Given the description of an element on the screen output the (x, y) to click on. 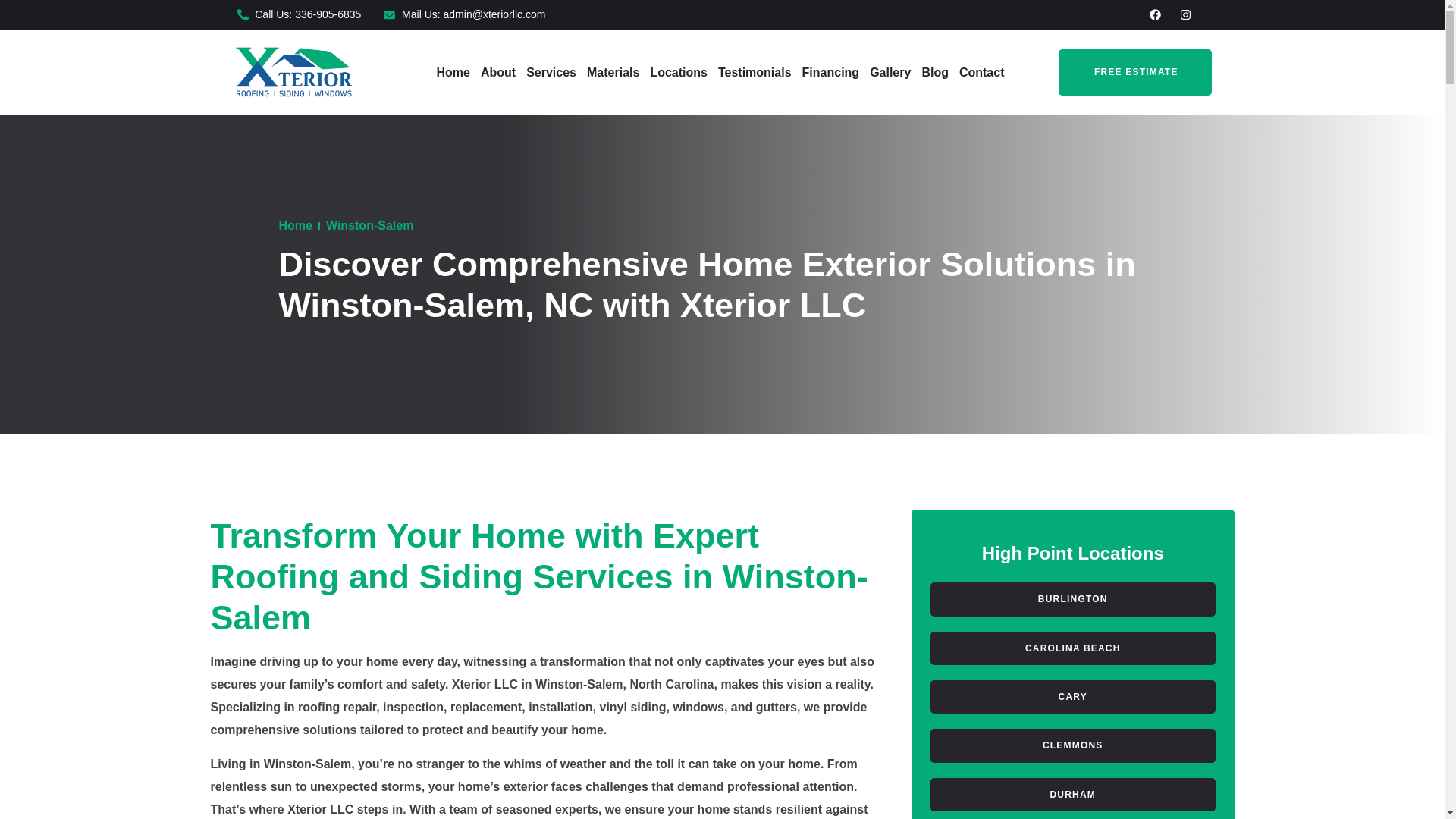
About (498, 72)
Materials (612, 72)
Call Us: 336-905-6835 (298, 14)
Services (550, 72)
Home (452, 72)
